Given the description of an element on the screen output the (x, y) to click on. 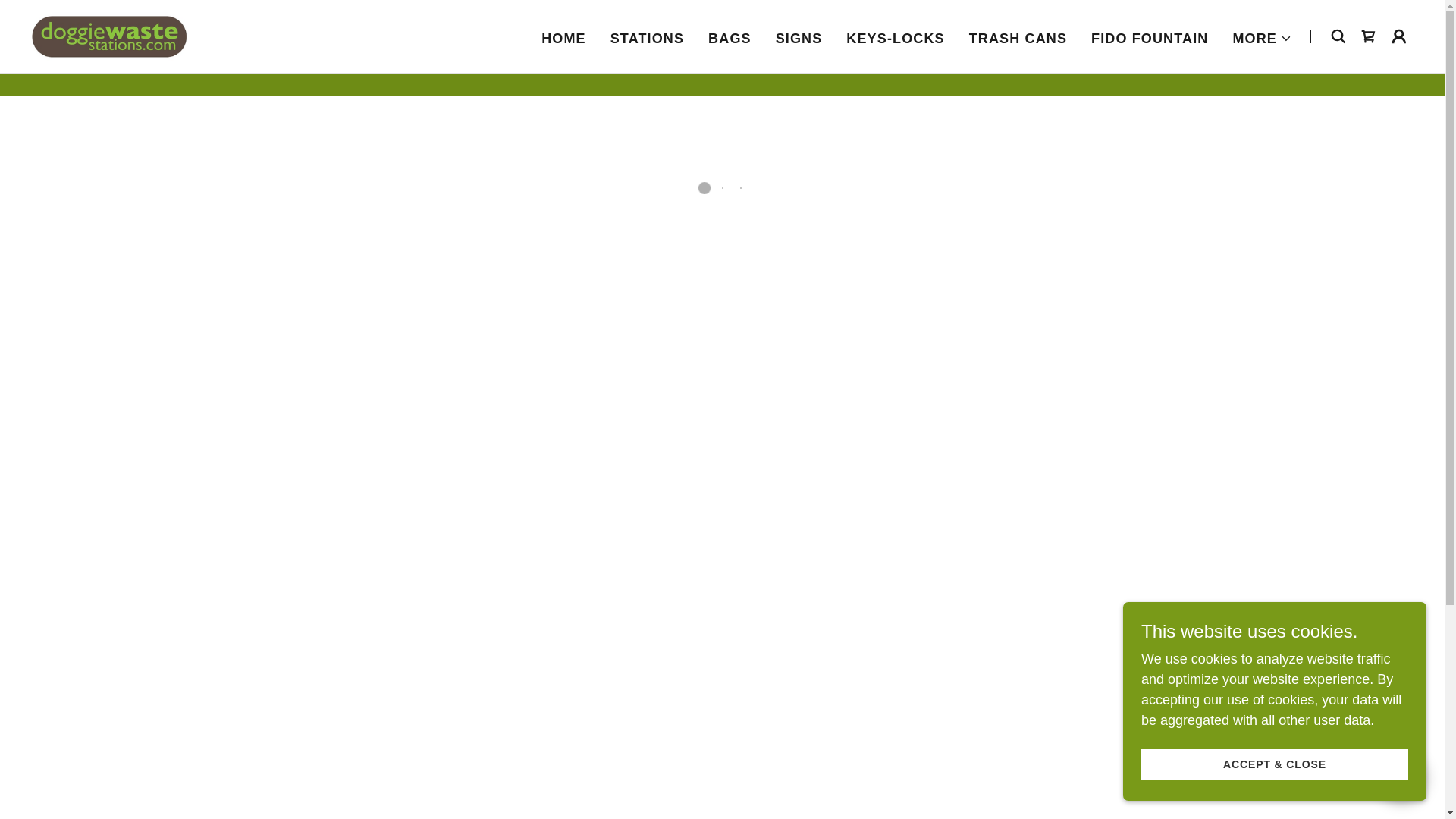
STATIONS (646, 37)
BAGS (729, 37)
KEYS-LOCKS (895, 37)
SIGNS (799, 37)
TRASH CANS (1017, 37)
MORE (1261, 37)
HOME (564, 37)
FIDO FOUNTAIN (1149, 37)
Doggie Waste Stations (109, 35)
